Given the description of an element on the screen output the (x, y) to click on. 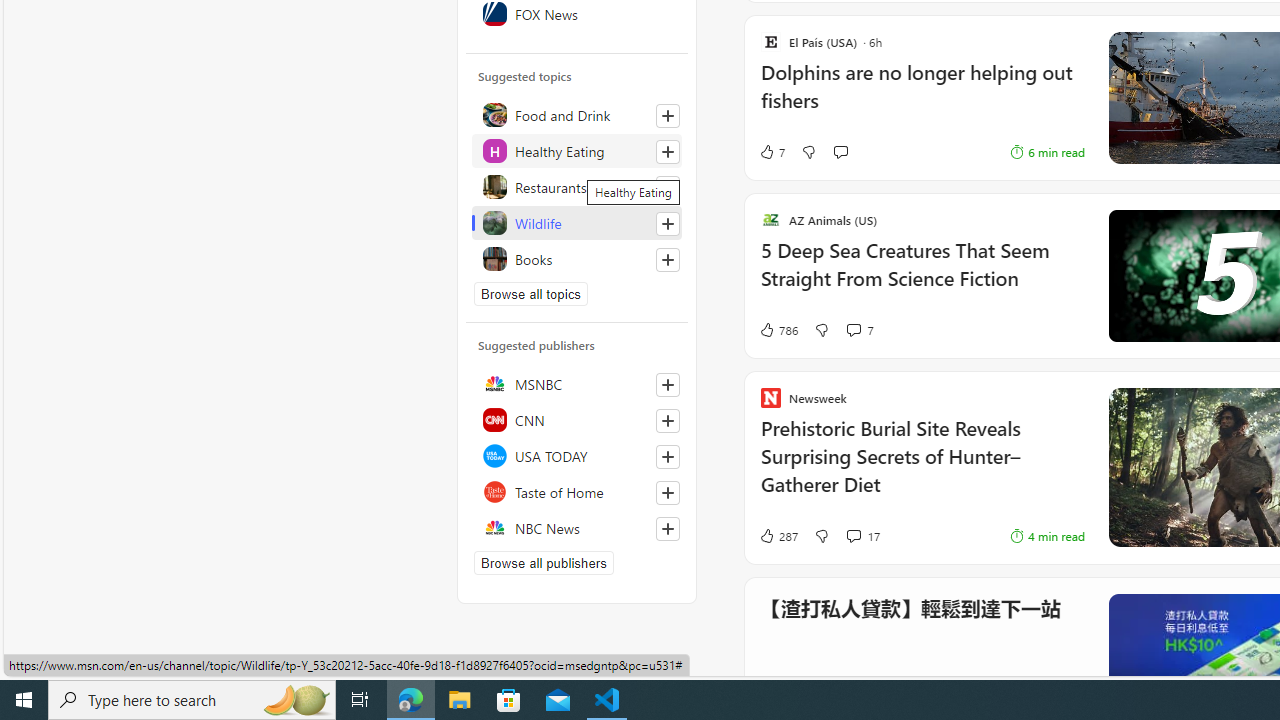
CNN (577, 420)
Follow this topic (667, 259)
View comments 7 Comment (852, 330)
287 Like (778, 536)
Healthy Eating (577, 150)
Follow this source (667, 528)
USA TODAY (577, 456)
View comments 7 Comment (859, 330)
Follow this source (667, 528)
Browse all publishers (543, 562)
MSNBC (577, 384)
Food and Drink (577, 114)
View comments 17 Comment (862, 536)
Wildlife (577, 222)
